Given the description of an element on the screen output the (x, y) to click on. 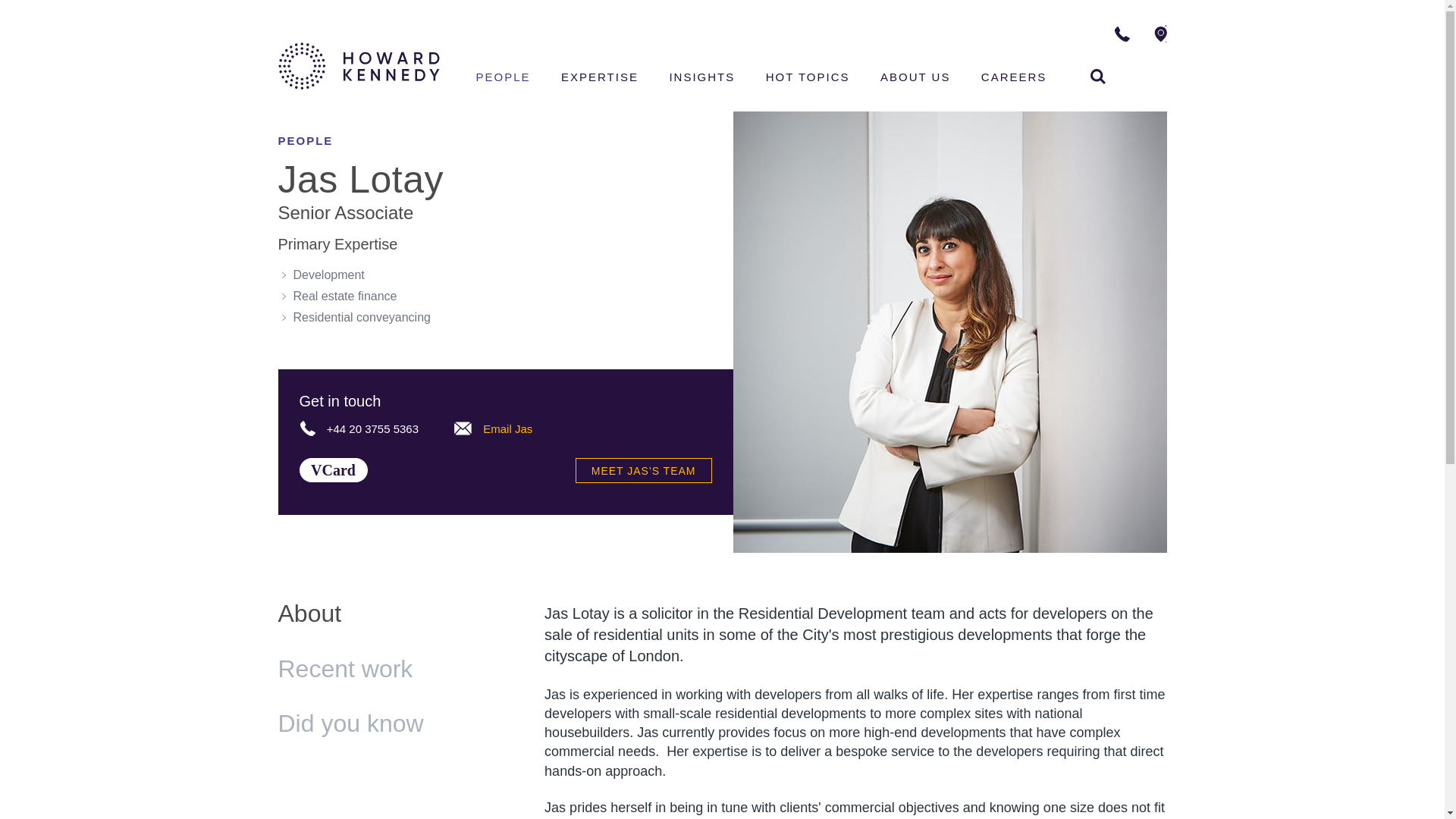
Search icon (1097, 76)
Email icon (332, 469)
CONTACT US (461, 427)
EXPERTISE (1215, 33)
PEOPLE (599, 79)
